Given the description of an element on the screen output the (x, y) to click on. 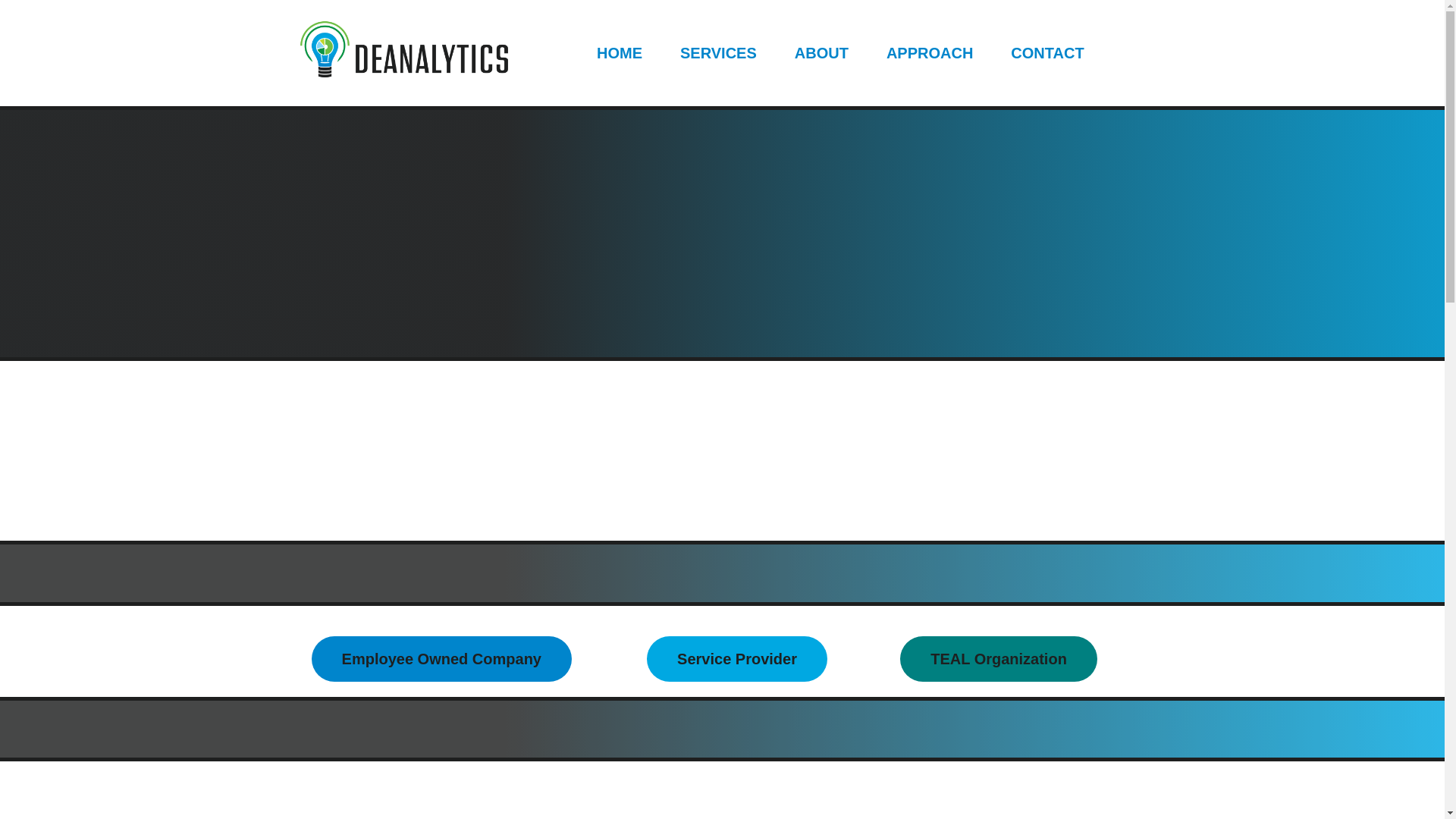
HOME (619, 53)
ABOUT (821, 53)
Service Provider (736, 658)
APPROACH (929, 53)
Employee Owned Company (441, 658)
TEAL Organization (998, 658)
SERVICES (718, 53)
CONTACT (1046, 53)
